Given the description of an element on the screen output the (x, y) to click on. 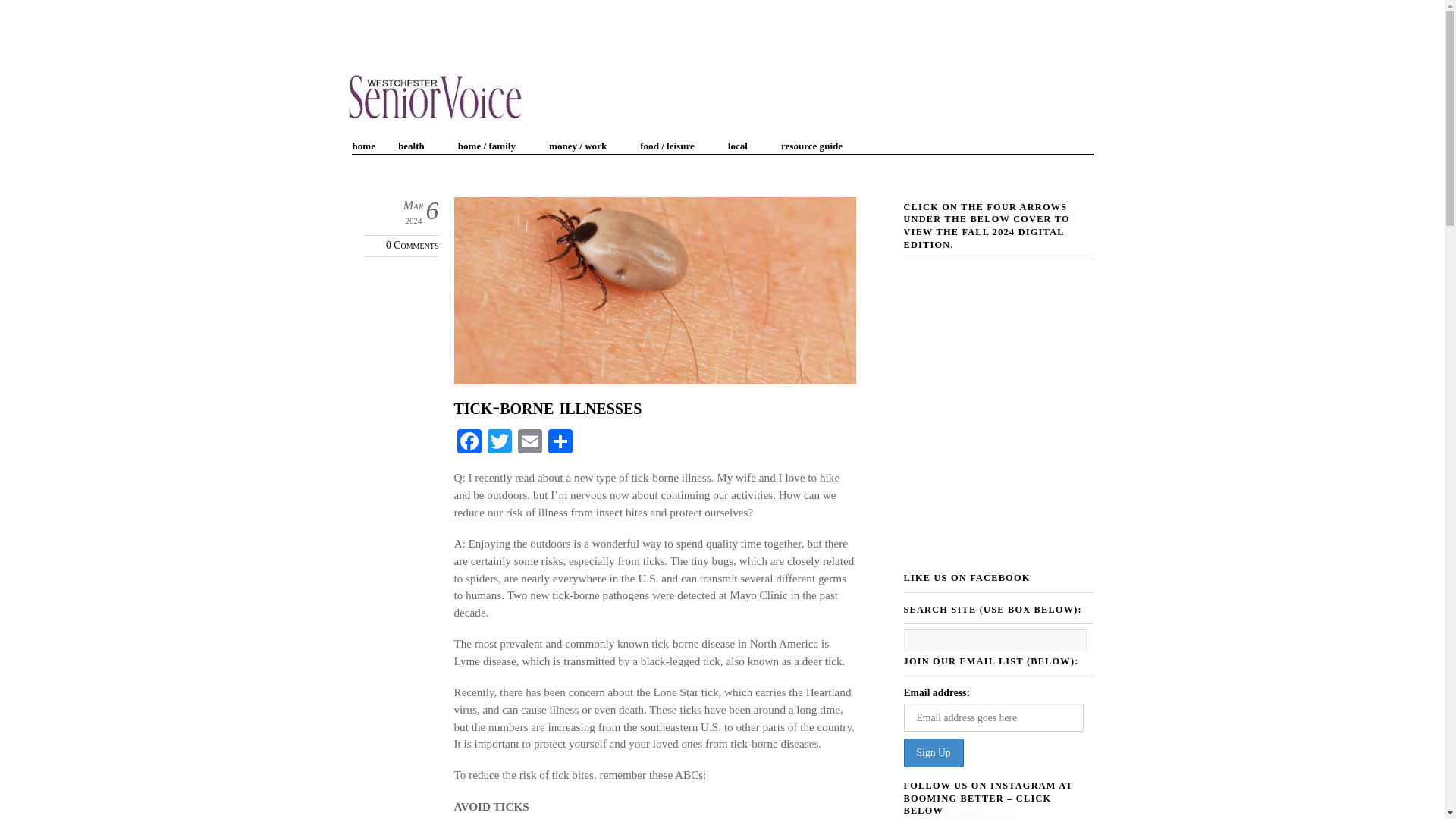
premium-health-ticks-20230517 (654, 290)
resource guide (817, 141)
Advertisement (275, 33)
local (743, 141)
0 Comments (411, 244)
Westchester Senior Voice (434, 111)
Facebook (467, 443)
health (416, 141)
Search (995, 640)
Twitter (498, 443)
